Given the description of an element on the screen output the (x, y) to click on. 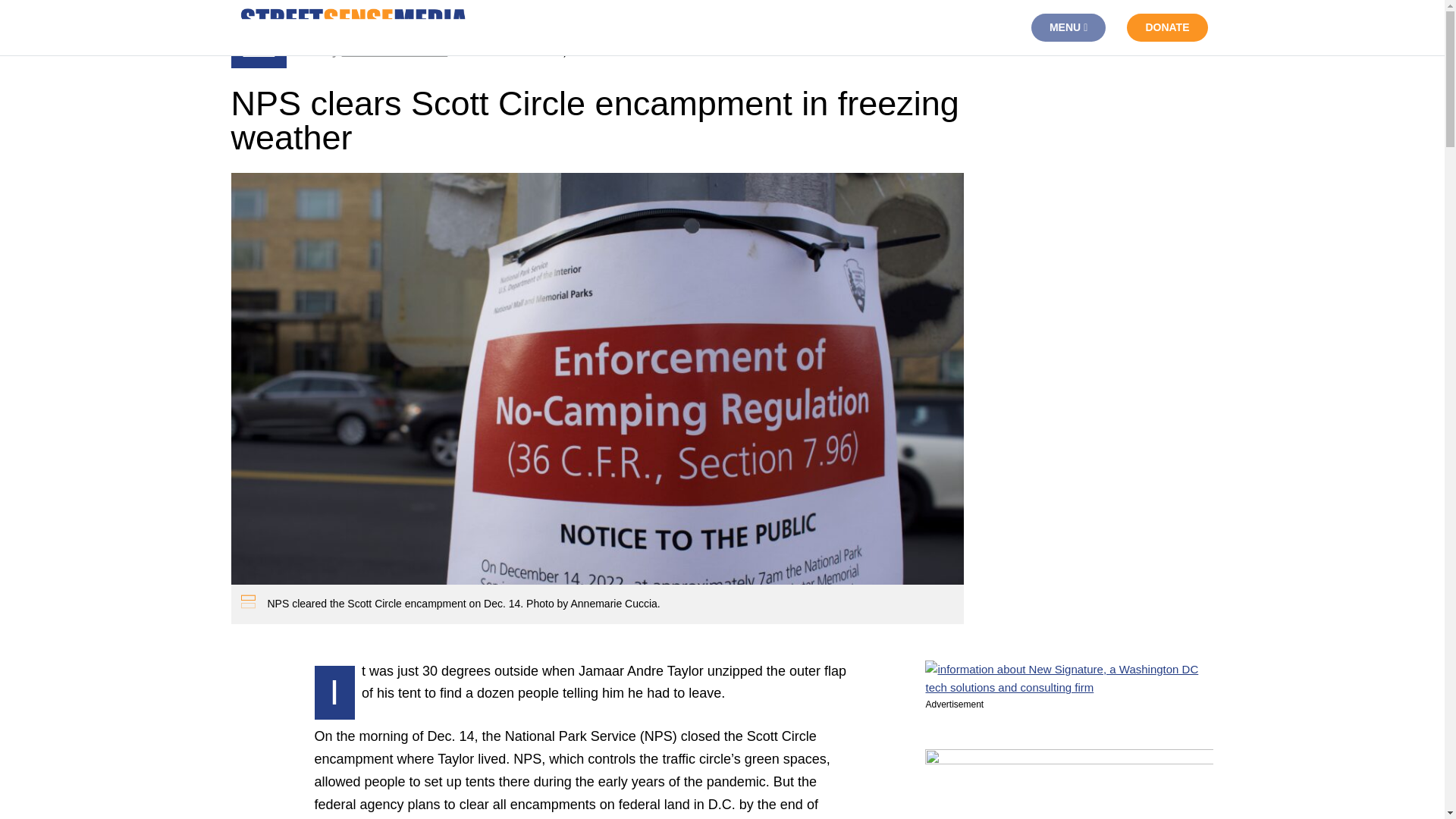
Annemarie Cuccia (395, 51)
News (259, 51)
DONATE (1166, 27)
MENU (1067, 27)
